Given the description of an element on the screen output the (x, y) to click on. 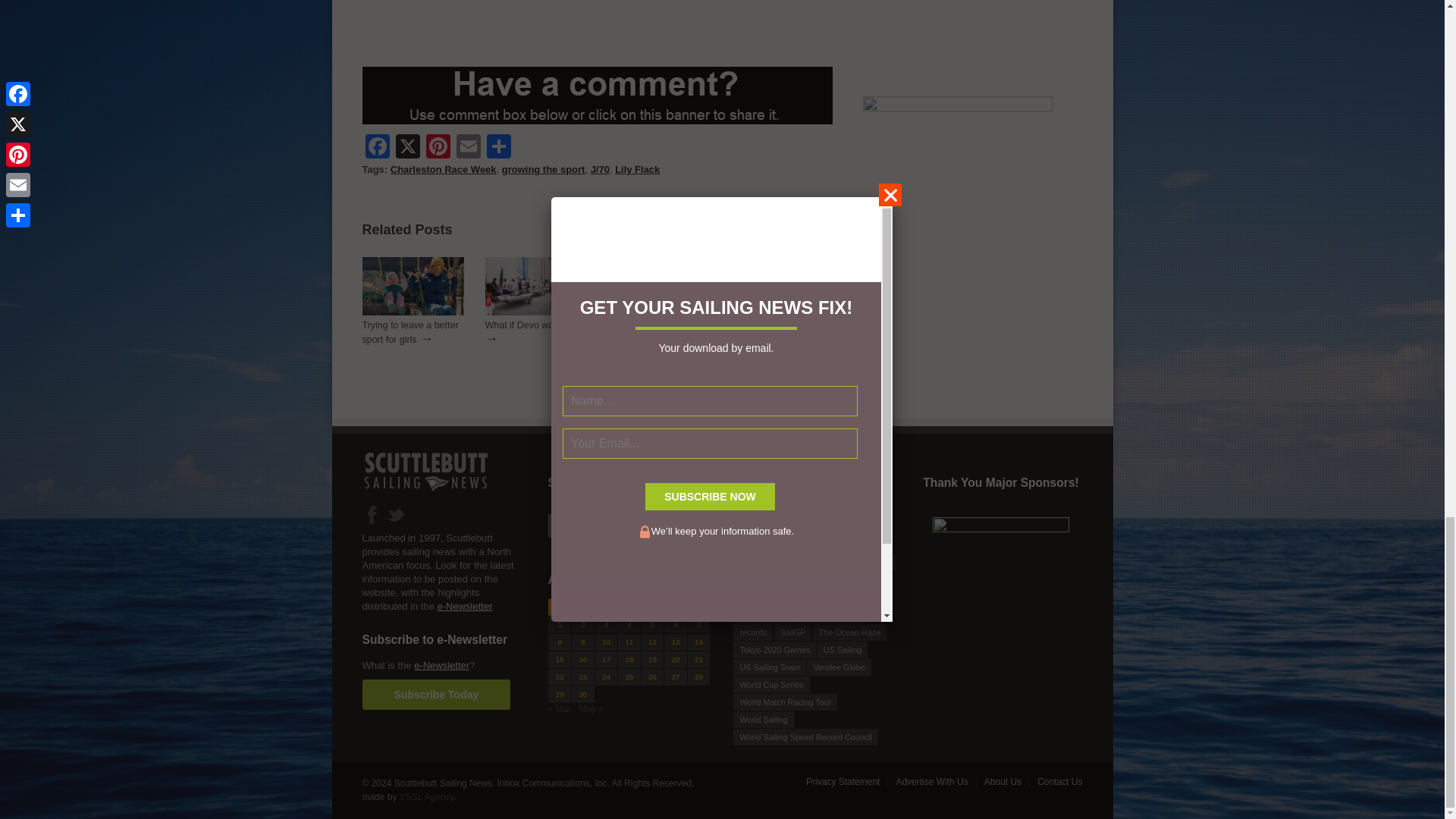
To each his own, I guess (768, 332)
Monday (560, 607)
To each his own, I guess (781, 312)
Trying to leave a better sport for girls (410, 332)
Tuesday (583, 607)
X (408, 148)
growing the sport (543, 169)
What if Devo was right? (535, 312)
Pinterest (437, 148)
Trying to leave a better sport for girls (410, 332)
Email (467, 148)
Trying to leave a better sport for girls (413, 312)
Friday (651, 607)
Facebook (377, 148)
Email (467, 148)
